Given the description of an element on the screen output the (x, y) to click on. 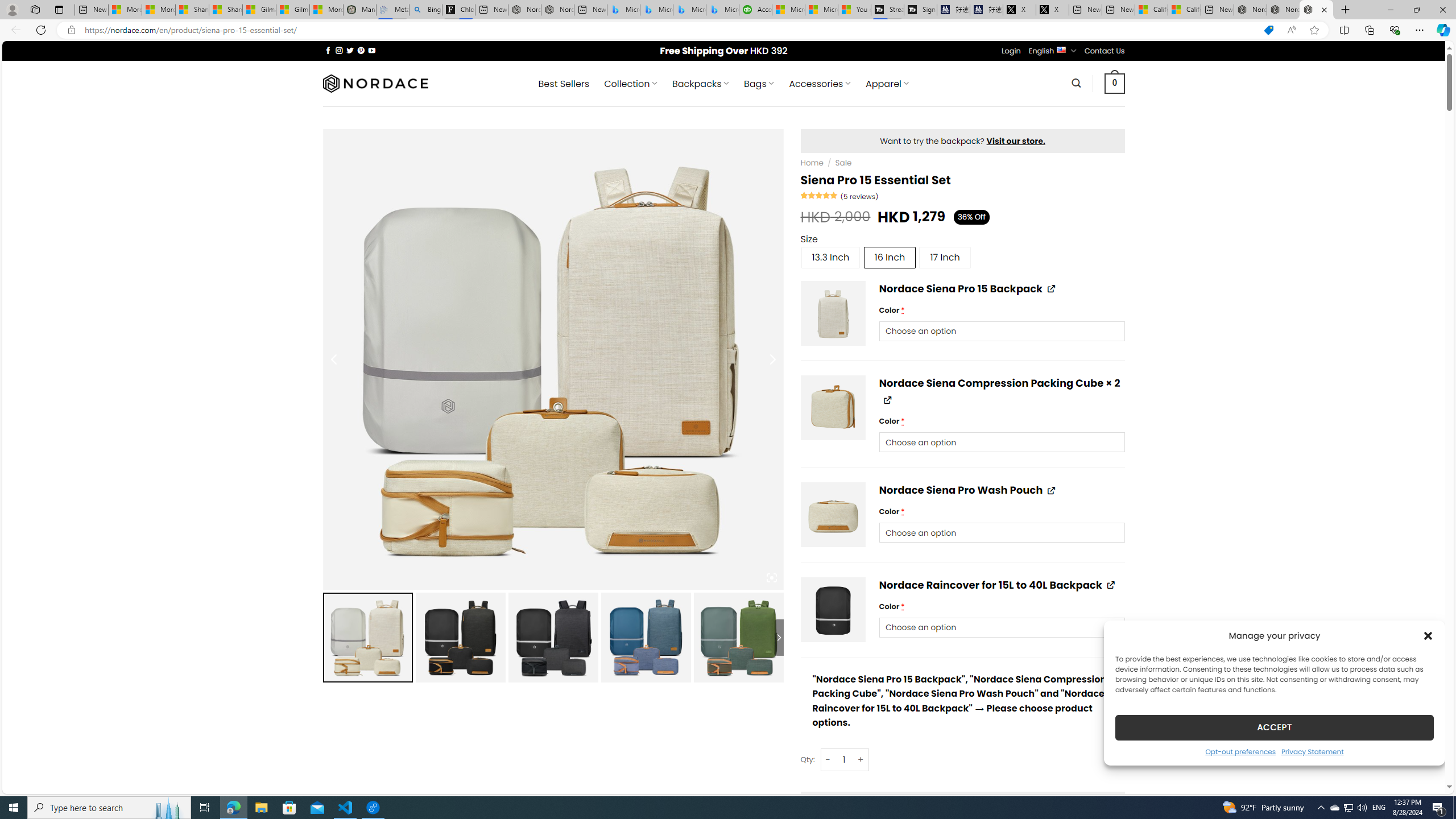
Class: iconic-woothumbs-fullscreen (771, 577)
Bing Real Estate - Home sales and rental listings (425, 9)
  Best Sellers (563, 83)
This site has coupons! Shopping in Microsoft Edge (1268, 29)
 Best Sellers (563, 83)
